Given the description of an element on the screen output the (x, y) to click on. 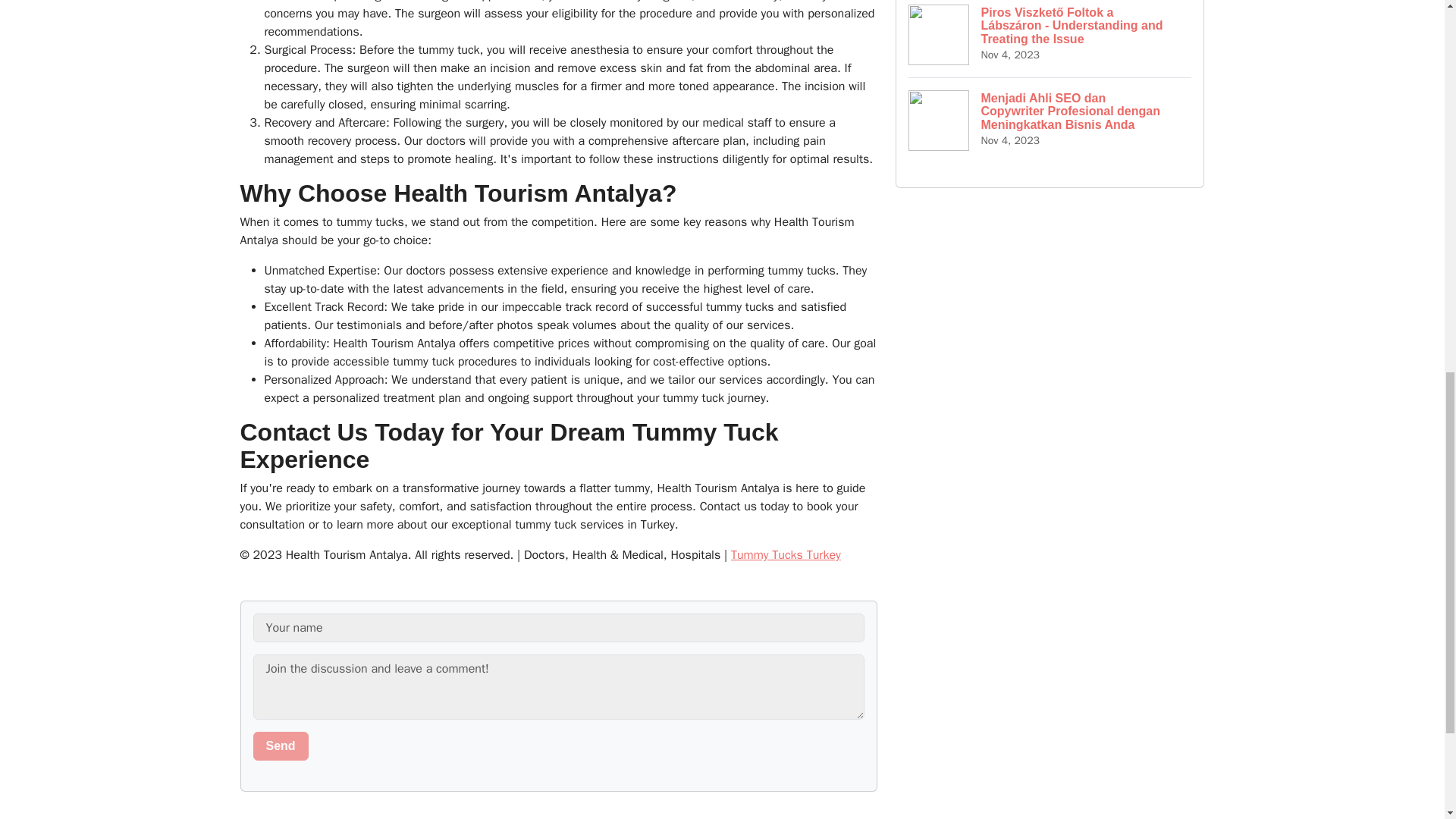
Send (280, 746)
Send (280, 746)
Tummy Tucks Turkey (785, 554)
